Given the description of an element on the screen output the (x, y) to click on. 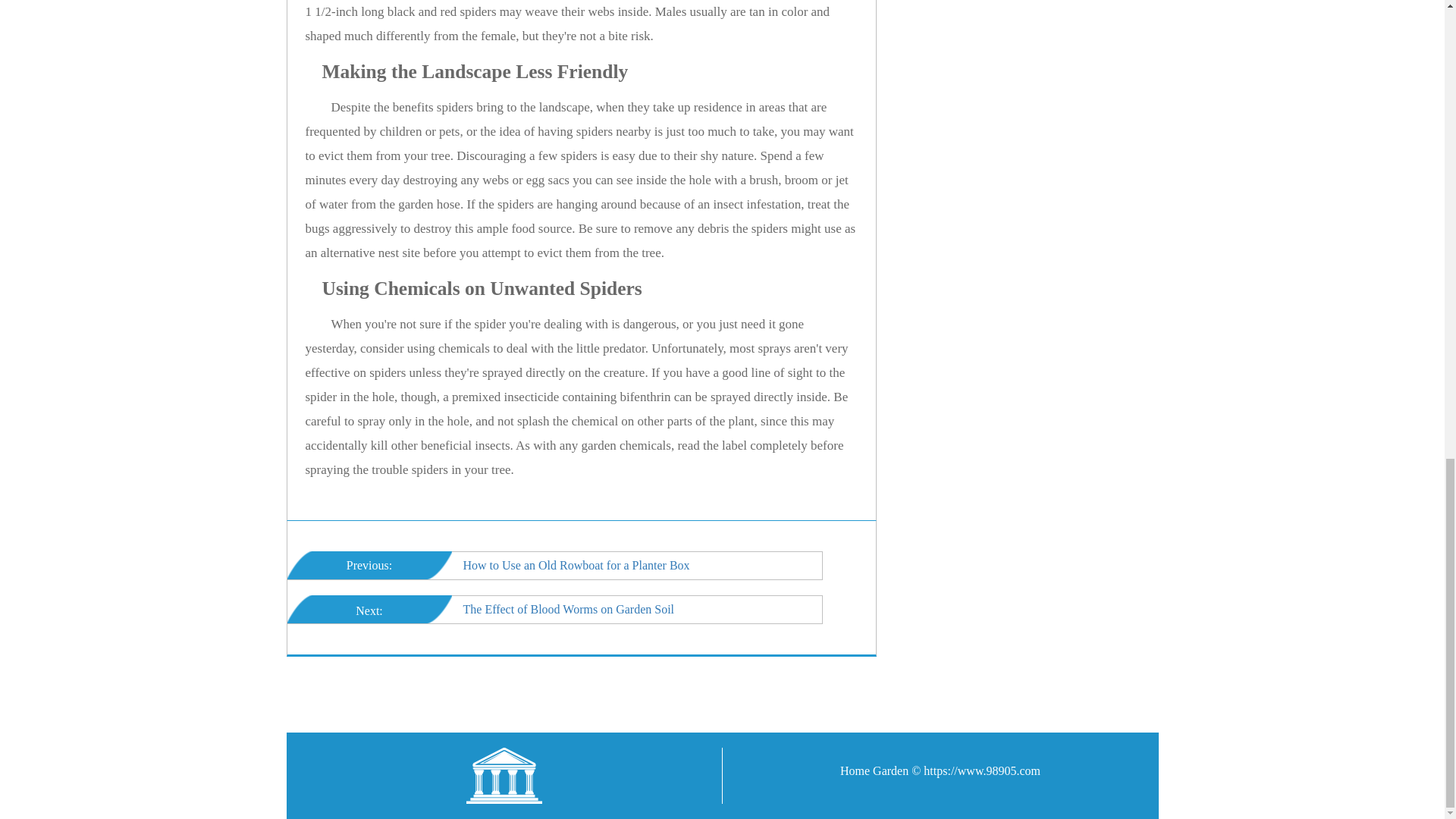
How to Use an Old Rowboat for a Planter Box (575, 564)
The Effect of Blood Worms on Garden Soil (568, 608)
